Given the description of an element on the screen output the (x, y) to click on. 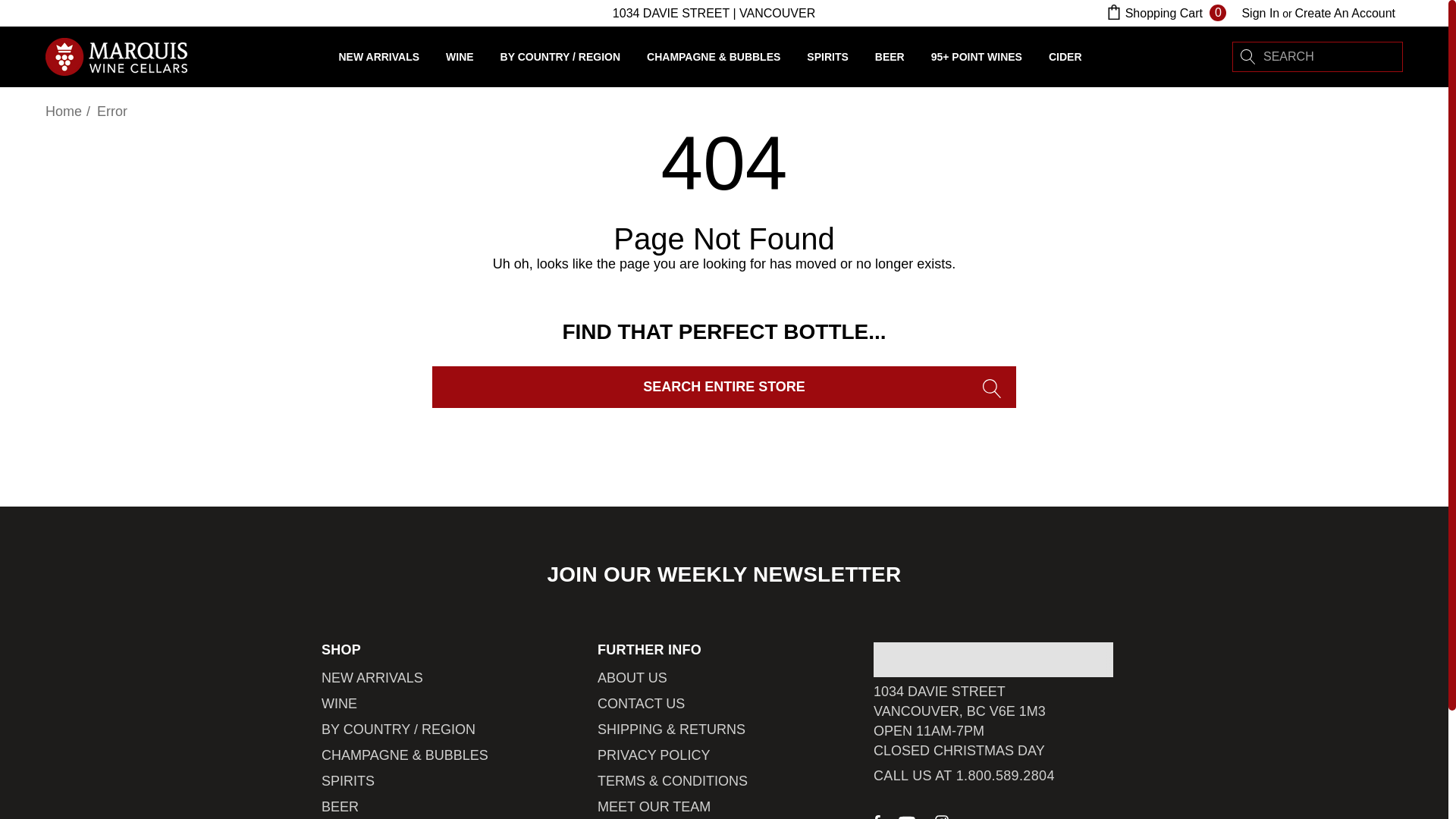
Create An Account (1344, 12)
CONTACT US (640, 703)
Error (112, 111)
PRIVACY POLICY (653, 755)
BEER (339, 806)
Review Your Cart Review Your Cart (1113, 11)
BEER (889, 56)
instagram instagram (941, 816)
NEW ARRIVALS (372, 678)
CALL US AT 1.800.589.2804 (963, 775)
facebook facebook (876, 816)
WINE (338, 703)
Sign In (1260, 12)
ABOUT US (631, 678)
SPIRITS (826, 60)
